Given the description of an element on the screen output the (x, y) to click on. 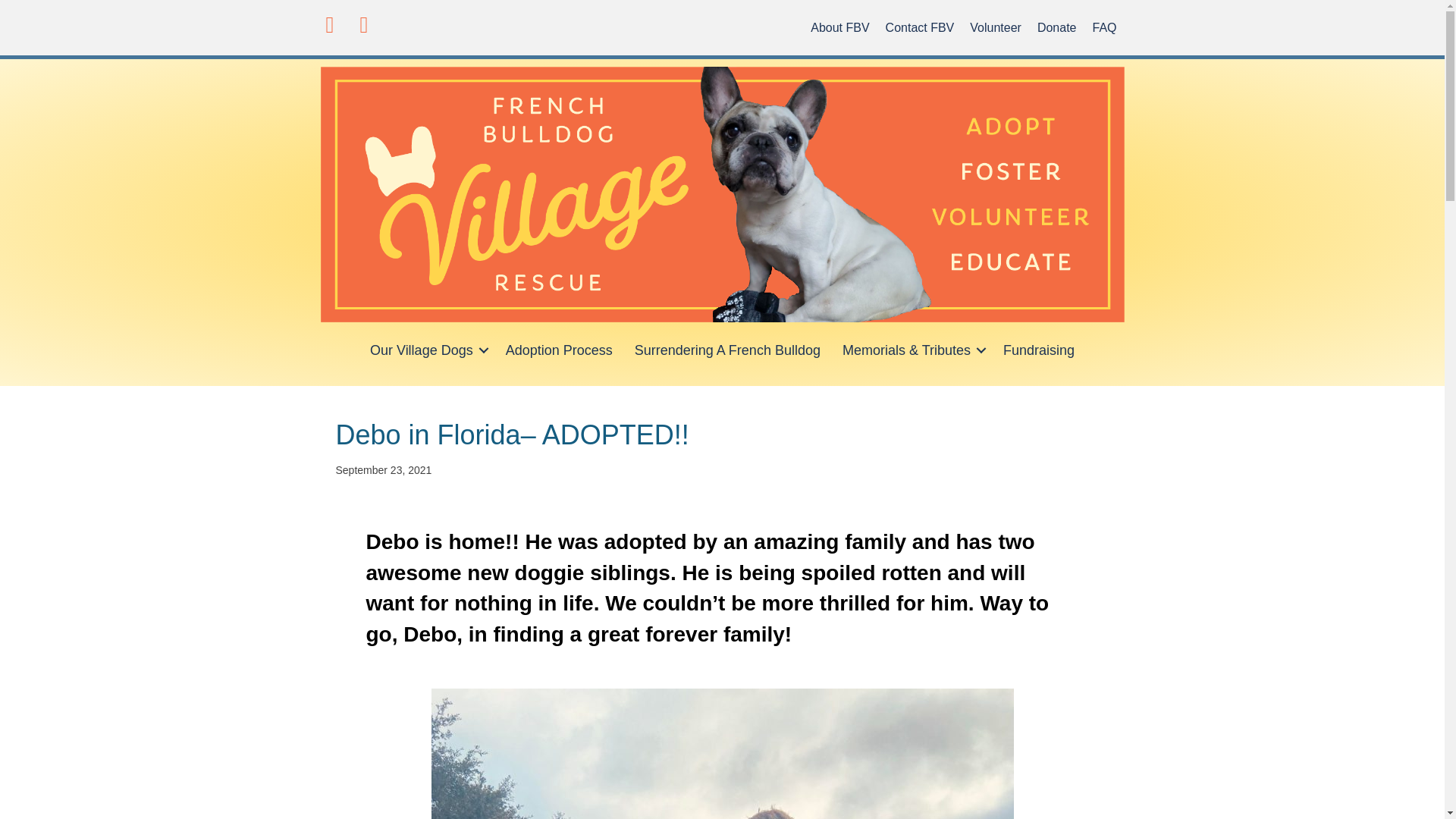
Instagram (364, 24)
Our Village Dogs (427, 350)
Volunteer (995, 27)
Fundraising (1038, 350)
Surrendering A French Bulldog (727, 350)
Deboadoption (721, 753)
About FBV (839, 27)
FAQ (1104, 27)
Contact FBV (919, 27)
Facebook (329, 24)
Donate (1056, 27)
Adoption Process (559, 350)
